Given the description of an element on the screen output the (x, y) to click on. 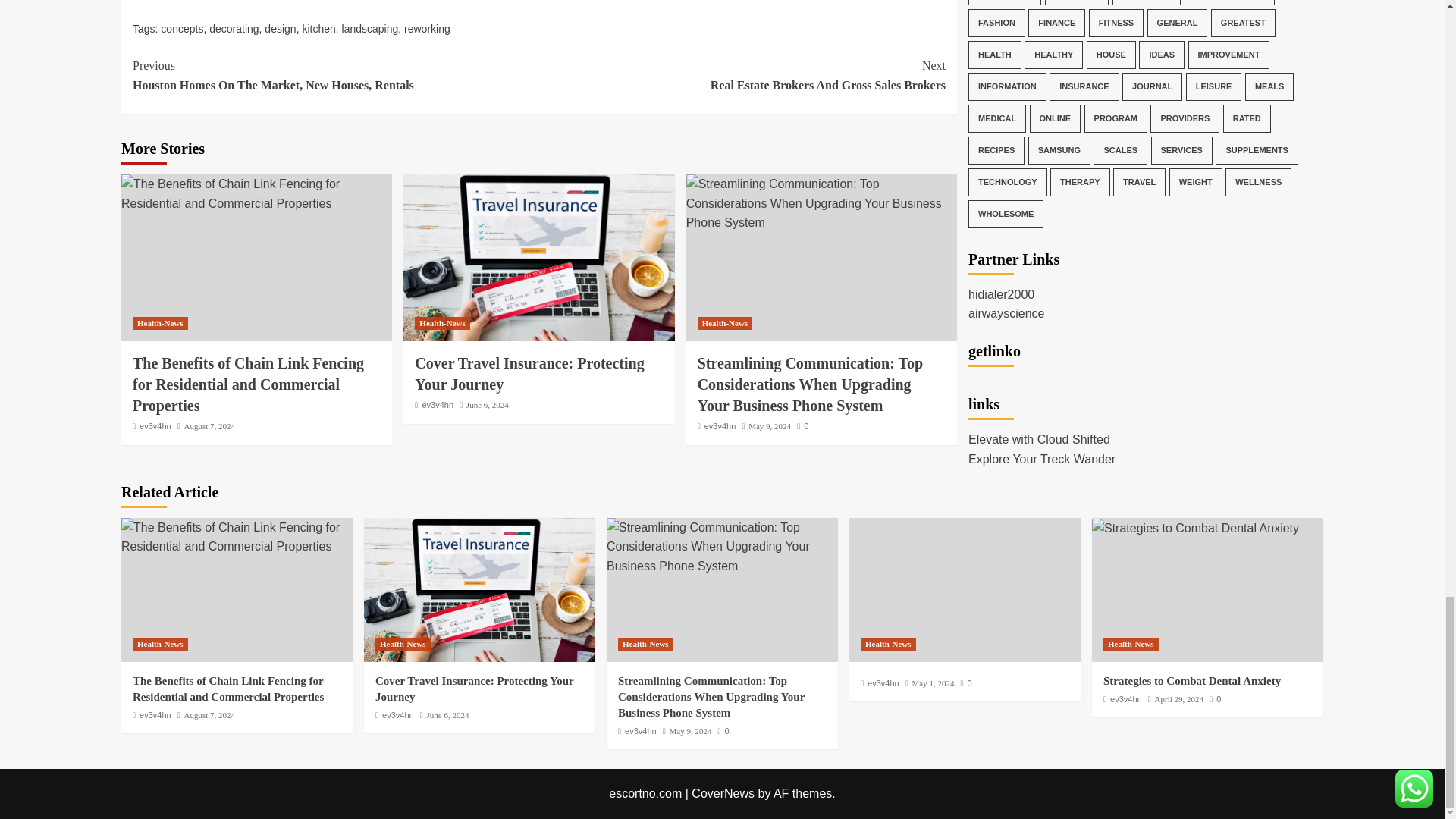
concepts (181, 28)
design (279, 28)
decorating (234, 28)
Cover Travel Insurance: Protecting Your Journey (538, 257)
kitchen (317, 28)
